Given the description of an element on the screen output the (x, y) to click on. 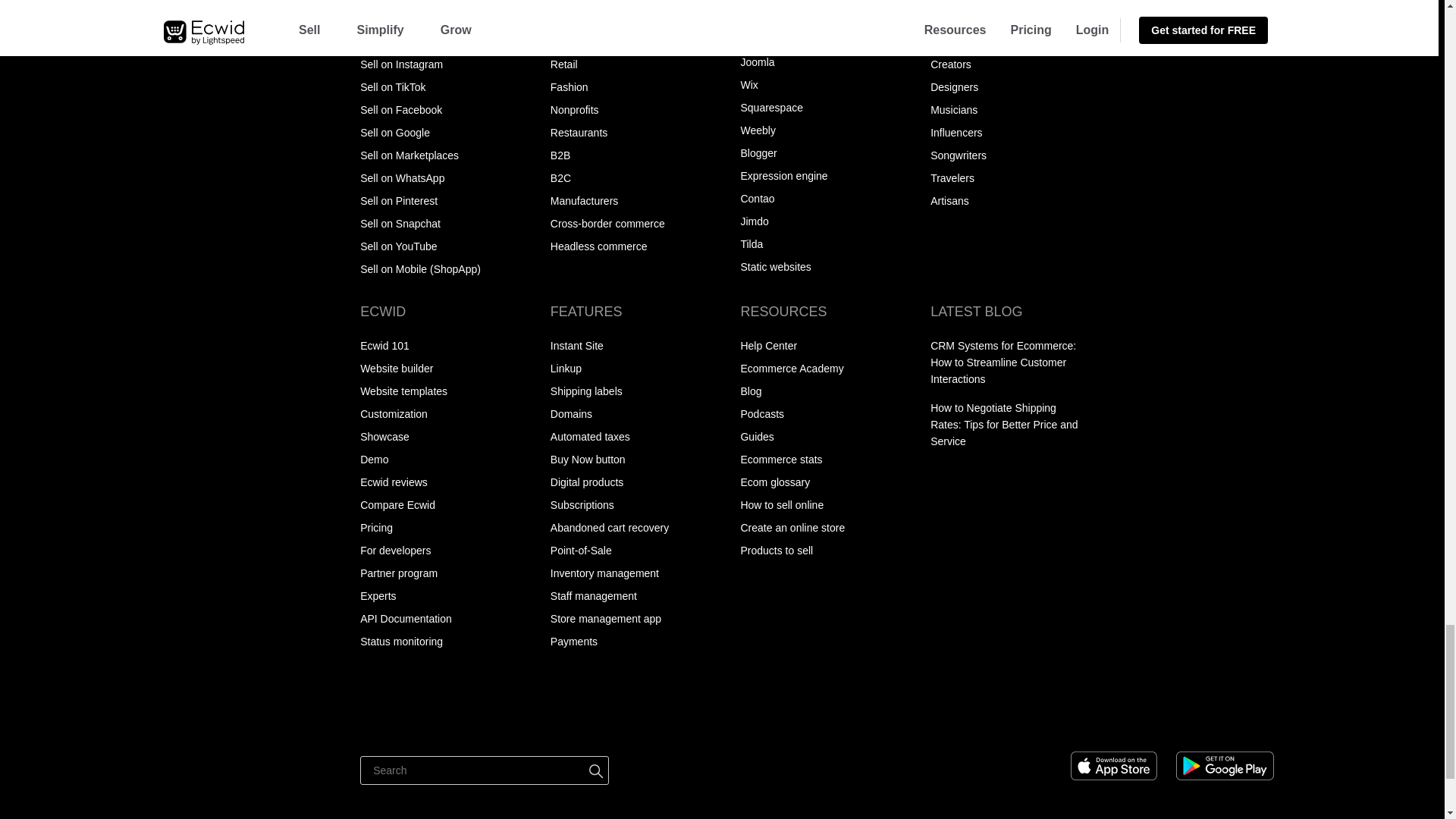
Search (483, 769)
Facebook (1175, 718)
Youtube (1260, 718)
Twitter (1203, 718)
Pinterest (1147, 718)
Ecwid podcast (1119, 718)
Instagram (1231, 718)
Ecwid blog (1091, 718)
